Given the description of an element on the screen output the (x, y) to click on. 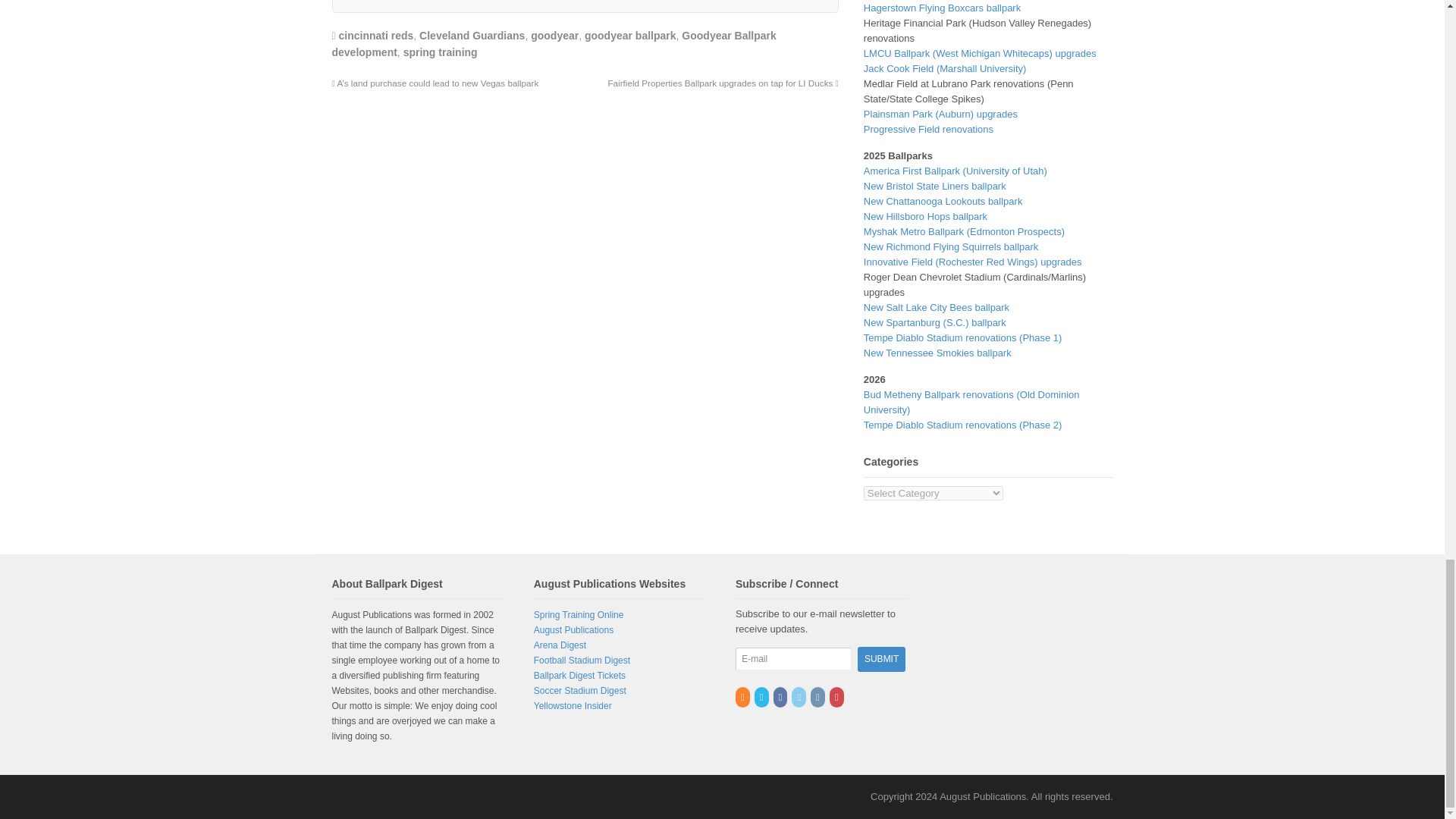
E-mail (793, 658)
Submit (881, 659)
